Given the description of an element on the screen output the (x, y) to click on. 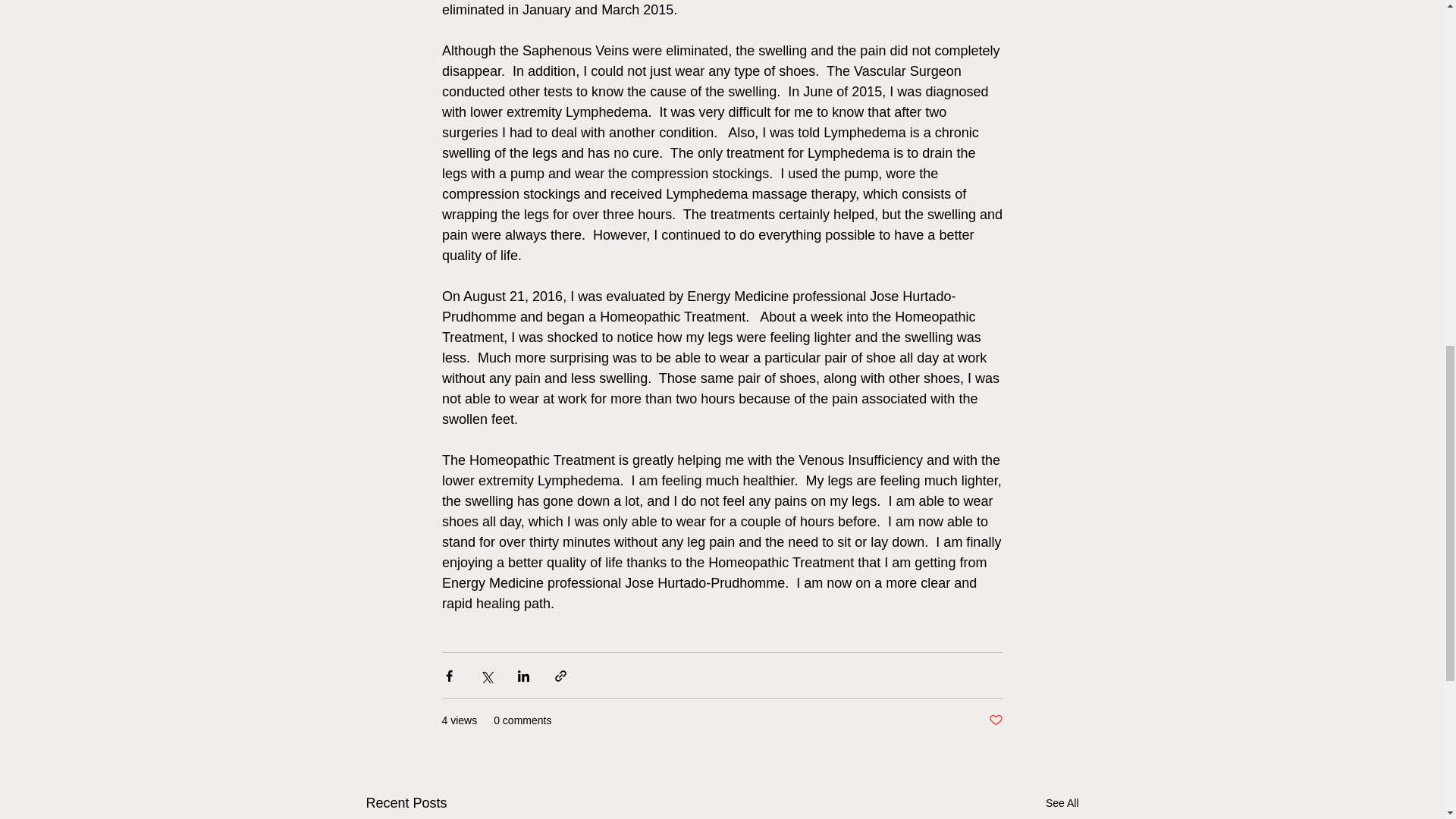
See All (1061, 803)
Post not marked as liked (995, 720)
